Given the description of an element on the screen output the (x, y) to click on. 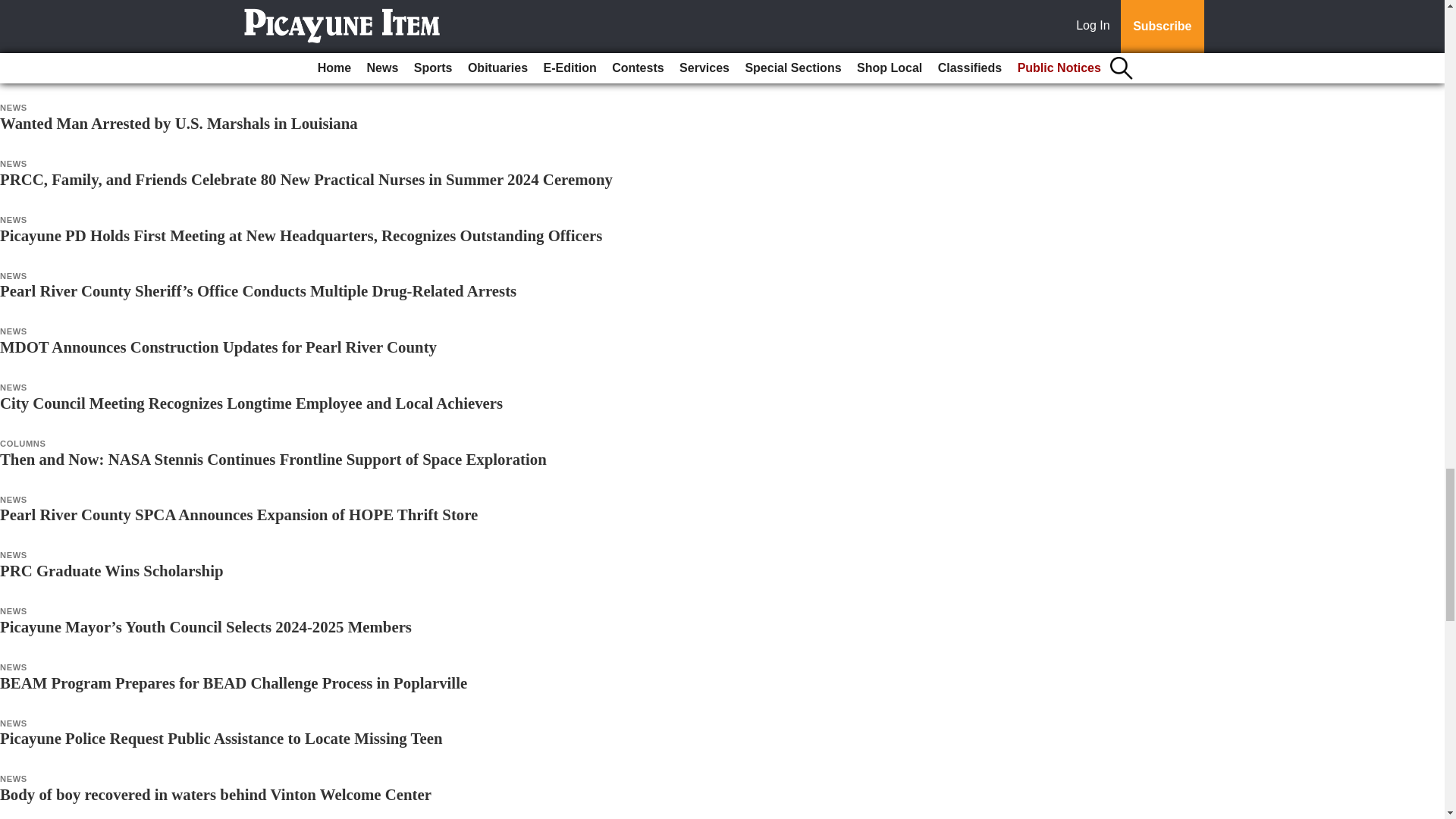
Ribbon Cutting Celebrates Expansion of HOPE Thrift Store (203, 11)
Ribbon Cutting Celebrates Expansion of HOPE Thrift Store (203, 11)
Wanted Man Arrested by U.S. Marshals in Louisiana (179, 122)
Wanted Man Arrested by U.S. Marshals in Louisiana (179, 122)
Body of boy recovered in waters behind Vinton Welcome Center (215, 794)
MDOT Announces Construction Updates for Pearl River County (218, 346)
